Given the description of an element on the screen output the (x, y) to click on. 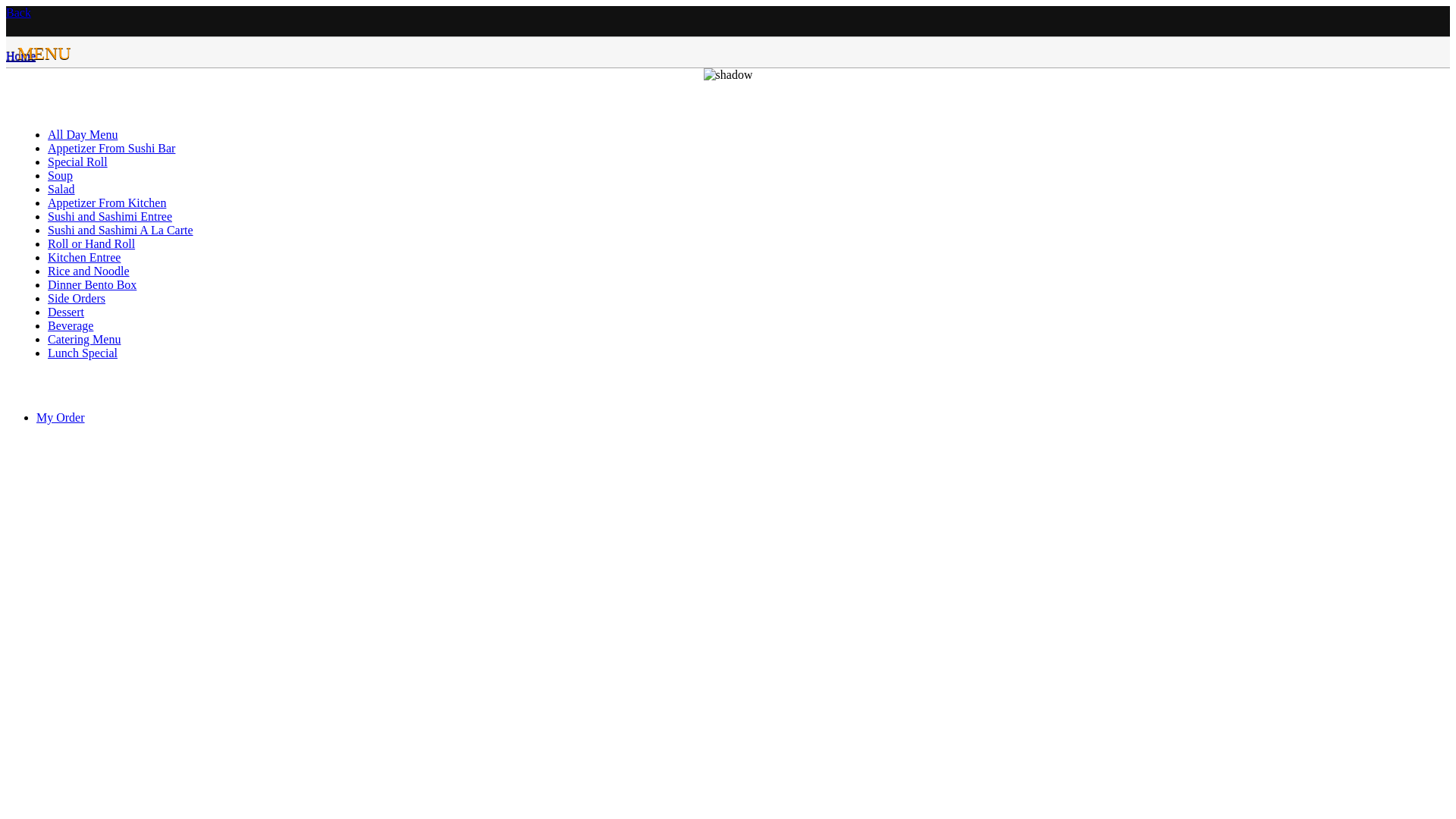
Sushi and Sashimi A La Carte Element type: text (120, 229)
Sushi and Sashimi Entree Element type: text (109, 216)
Roll or Hand Roll Element type: text (90, 243)
Side Orders Element type: text (76, 297)
Appetizer From Kitchen Element type: text (106, 202)
Rice and Noodle Element type: text (88, 270)
Soup Element type: text (59, 175)
All Day Menu Element type: text (82, 134)
Catering Menu Element type: text (83, 338)
Lunch Special Element type: text (82, 352)
Kitchen Entree Element type: text (83, 257)
Back Element type: text (18, 12)
Salad Element type: text (61, 188)
Dessert Element type: text (65, 311)
Dinner Bento Box Element type: text (91, 284)
My Order Element type: text (60, 417)
Home Element type: text (20, 56)
Appetizer From Sushi Bar Element type: text (111, 147)
Special Roll Element type: text (77, 161)
Beverage Element type: text (70, 325)
